Given the description of an element on the screen output the (x, y) to click on. 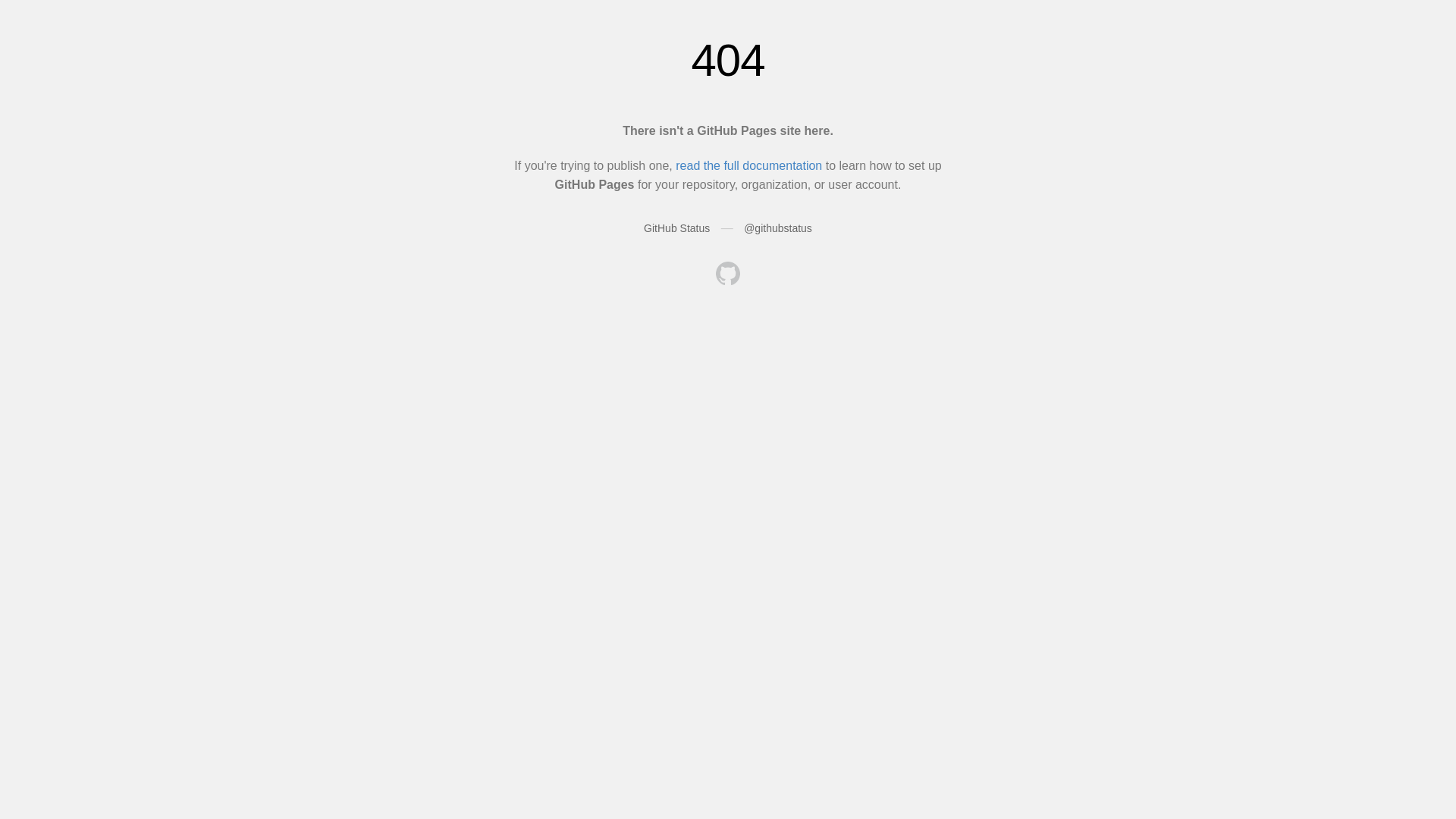
@githubstatus Element type: text (777, 228)
read the full documentation Element type: text (748, 165)
GitHub Status Element type: text (676, 228)
